Given the description of an element on the screen output the (x, y) to click on. 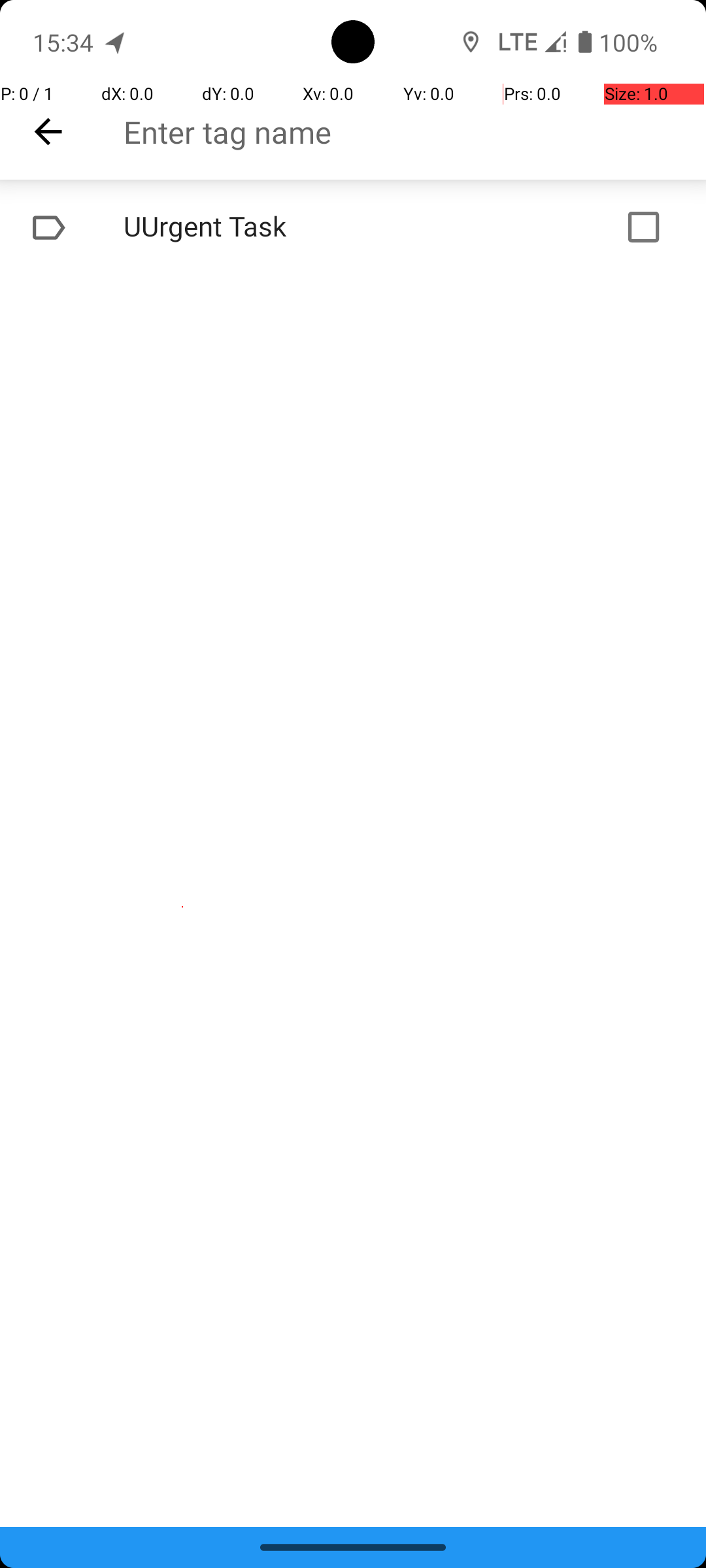
Enter tag name Element type: android.widget.EditText (414, 131)
UUrgent Task Element type: android.widget.TextView (311, 227)
